Given the description of an element on the screen output the (x, y) to click on. 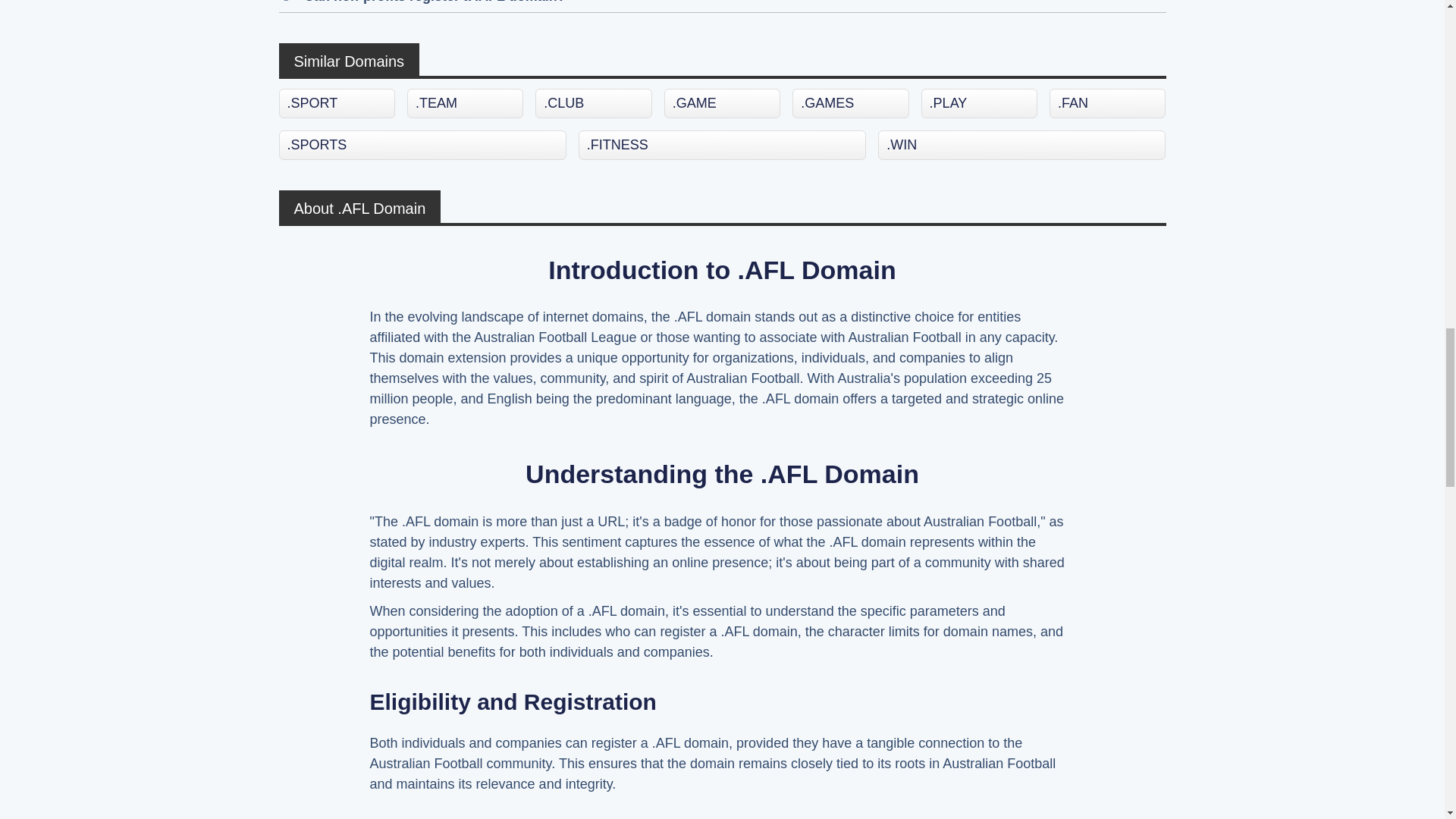
.FITNESS Domain - Sports (722, 144)
.SPORTS Domain - Sports (422, 144)
.GAMES Domain - Games and Gambling (850, 102)
.FITNESS (722, 144)
.CLUB (592, 102)
.SPORTS (422, 144)
.FAN Domain - Sports (1107, 102)
.SPORT Domain - Sports (336, 102)
.SPORT (336, 102)
.TEAM (464, 102)
